Given the description of an element on the screen output the (x, y) to click on. 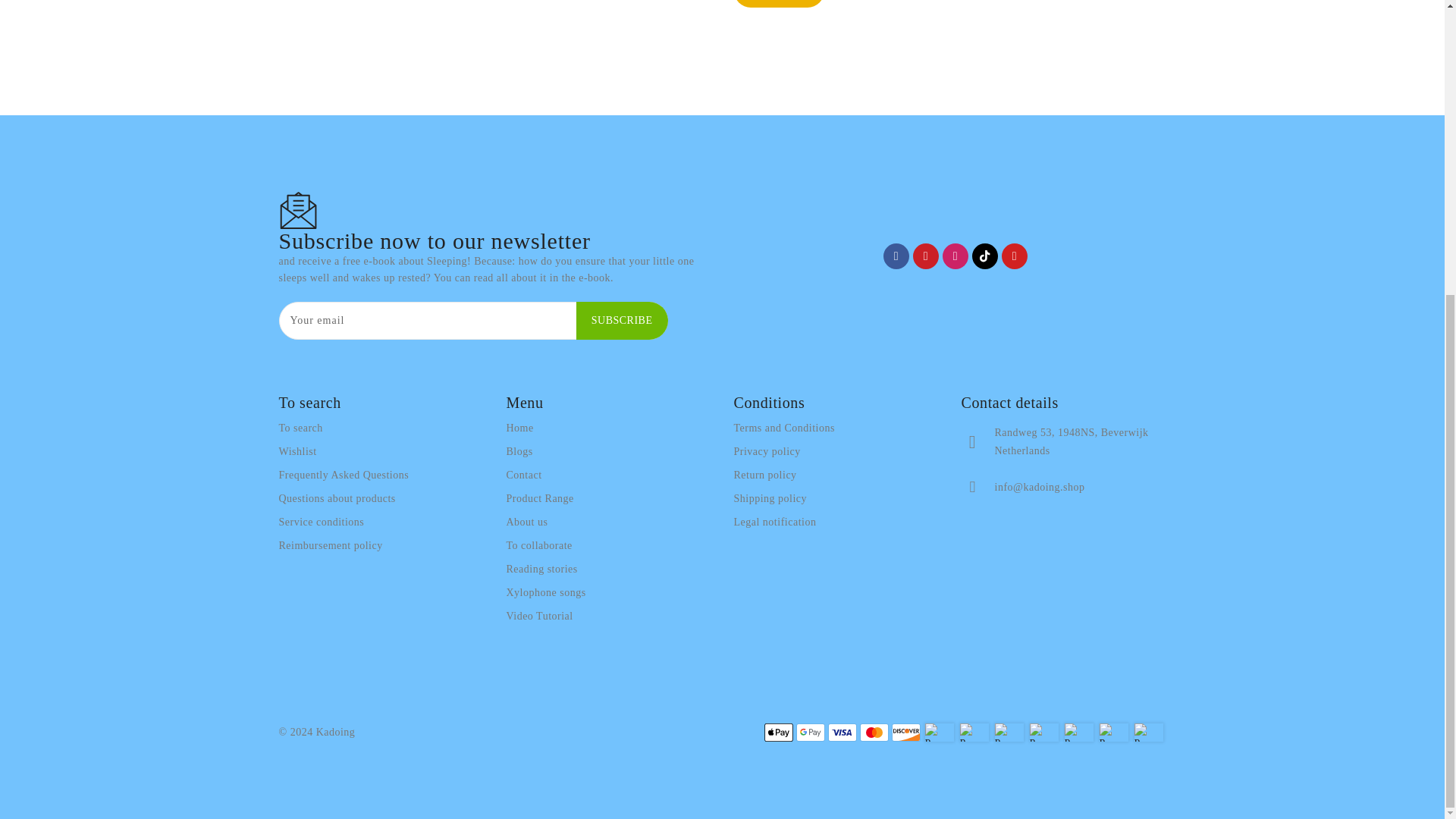
About us (527, 522)
Home (520, 428)
Blogs (519, 451)
HOME (778, 3)
SUBSCRIBE (622, 320)
Contact (523, 475)
Service conditions (322, 522)
Wishlist (298, 451)
Questions about products (337, 498)
Frequently Asked Questions (344, 475)
